Given the description of an element on the screen output the (x, y) to click on. 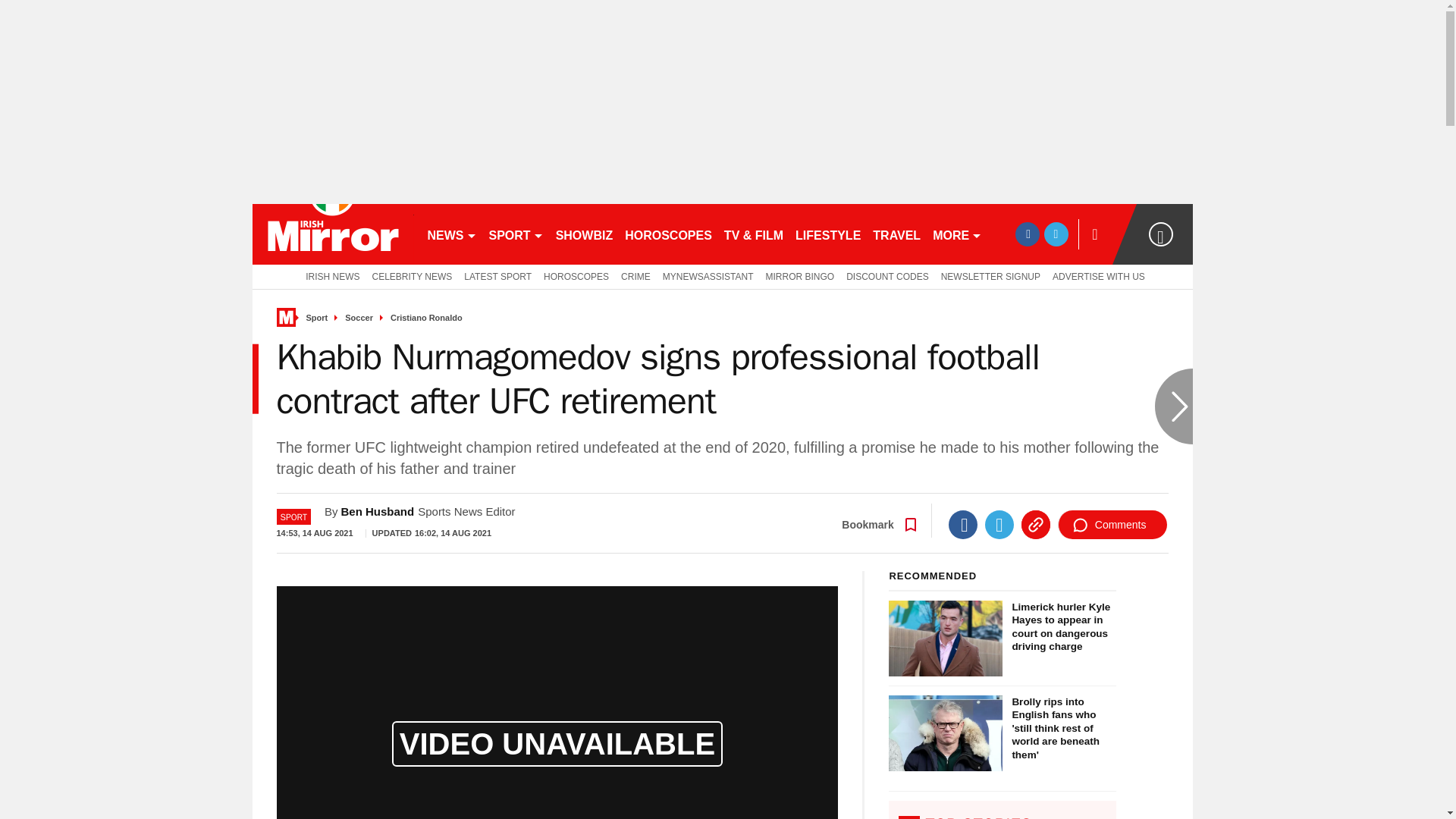
IRISH NEWS (329, 275)
Facebook (962, 524)
LATEST SPORT (497, 275)
Twitter (999, 524)
HOROSCOPES (667, 233)
CRIME (635, 275)
TRAVEL (896, 233)
MORE (957, 233)
facebook (1026, 233)
NEWS (452, 233)
SHOWBIZ (585, 233)
HOROSCOPES (575, 275)
LIFESTYLE (827, 233)
MIRROR BINGO (800, 275)
SPORT (514, 233)
